Given the description of an element on the screen output the (x, y) to click on. 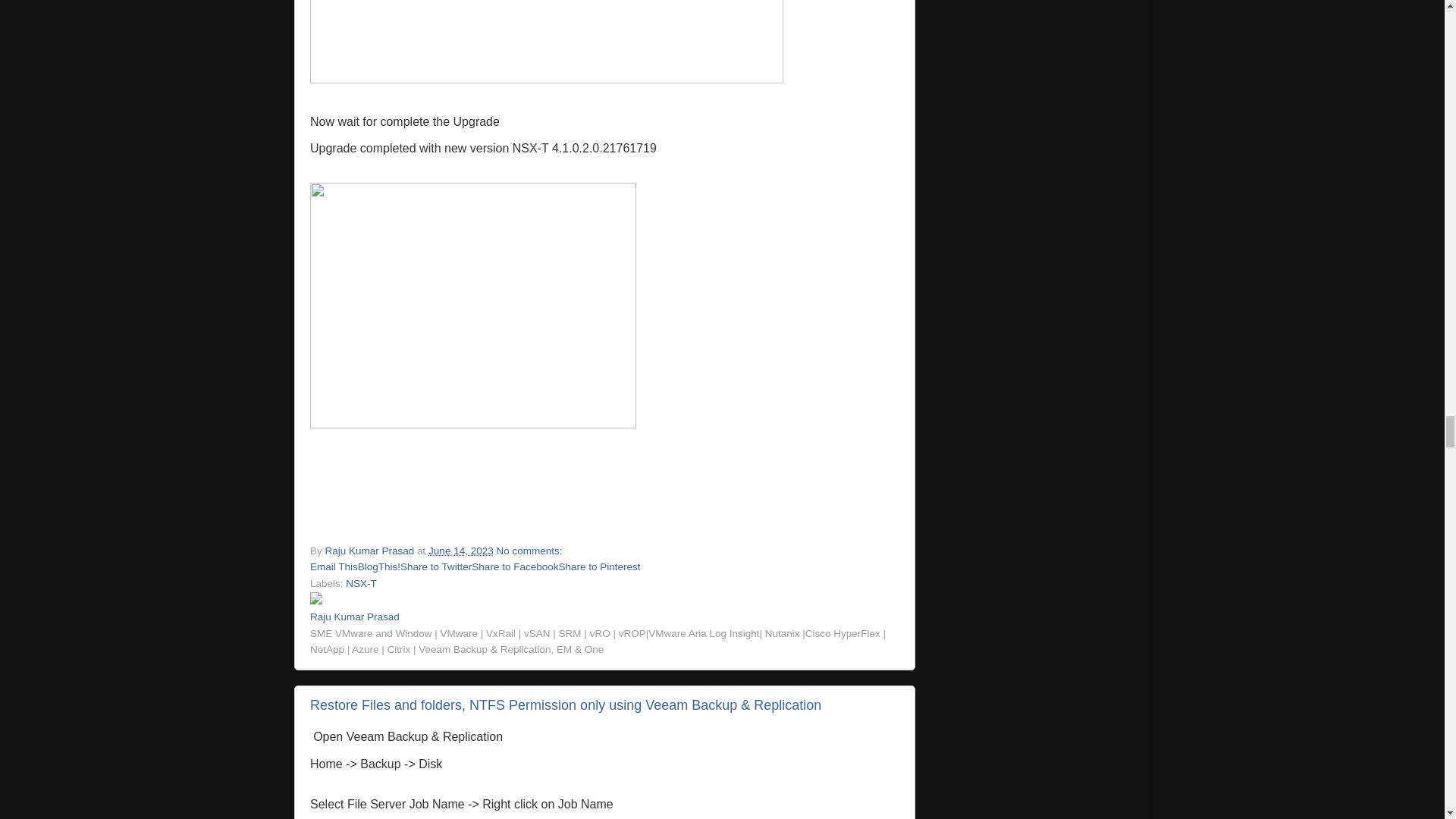
No comments: (530, 550)
Share to Twitter (435, 566)
Share to Facebook (514, 566)
June 14, 2023 (460, 550)
BlogThis! (379, 566)
Share to Pinterest (598, 566)
Raju Kumar Prasad (370, 550)
Email This (334, 566)
